Given the description of an element on the screen output the (x, y) to click on. 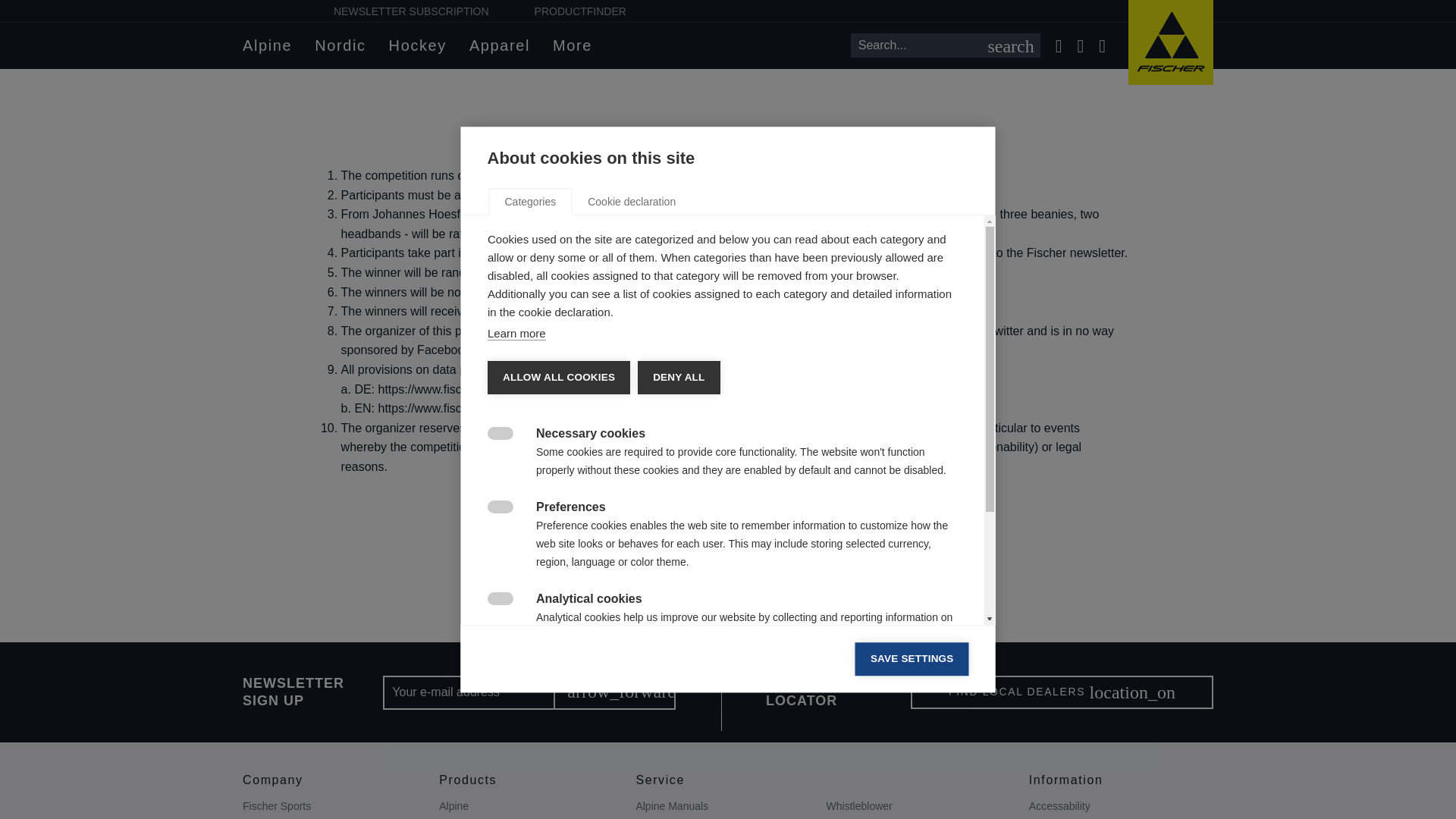
PRODUCTFINDER (580, 10)
Hockey (417, 44)
NEWSLETTER SUBSCRIPTION (411, 10)
Hockey (417, 44)
